Given the description of an element on the screen output the (x, y) to click on. 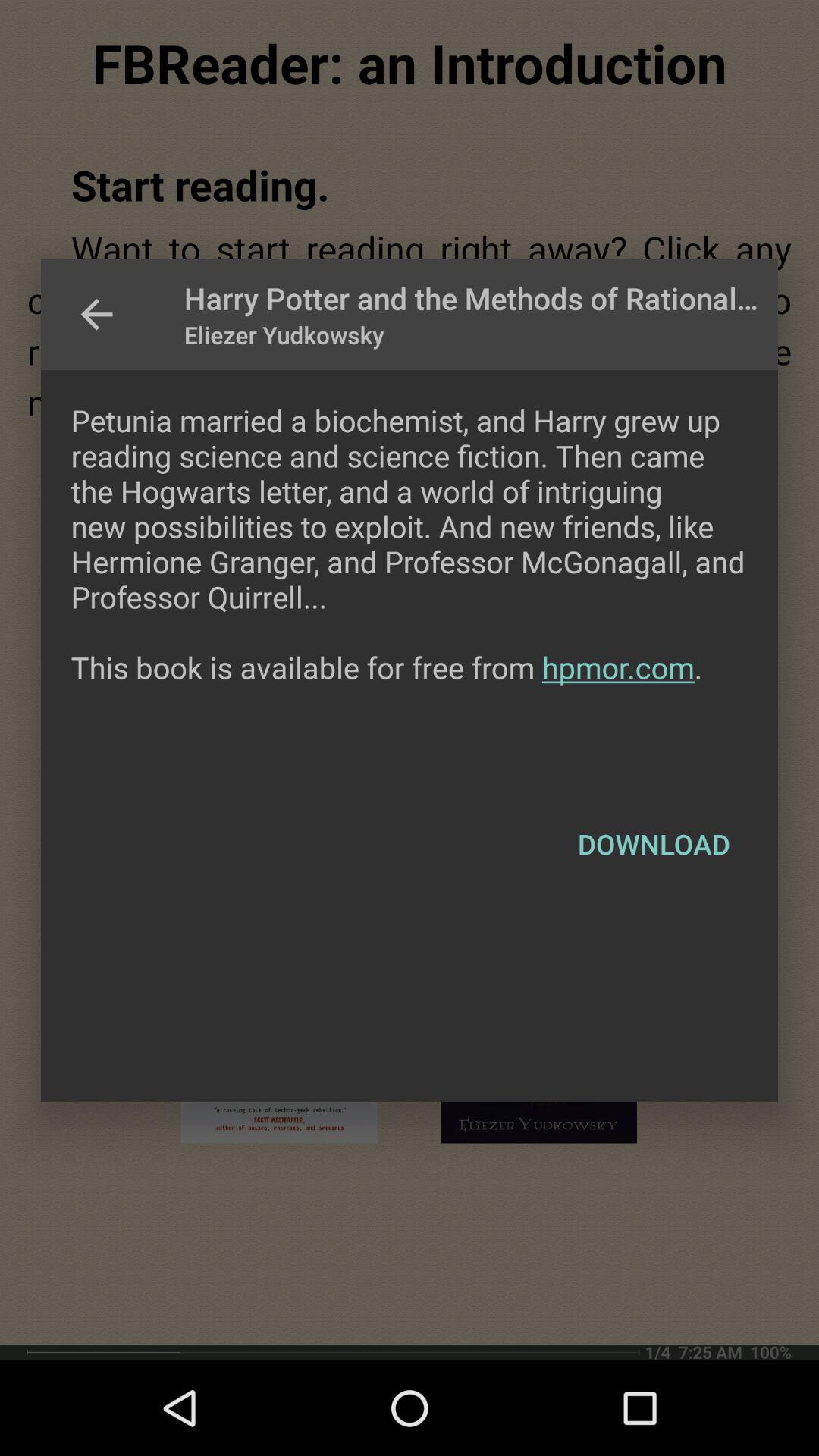
tap the icon next to harry potter and item (96, 314)
